Given the description of an element on the screen output the (x, y) to click on. 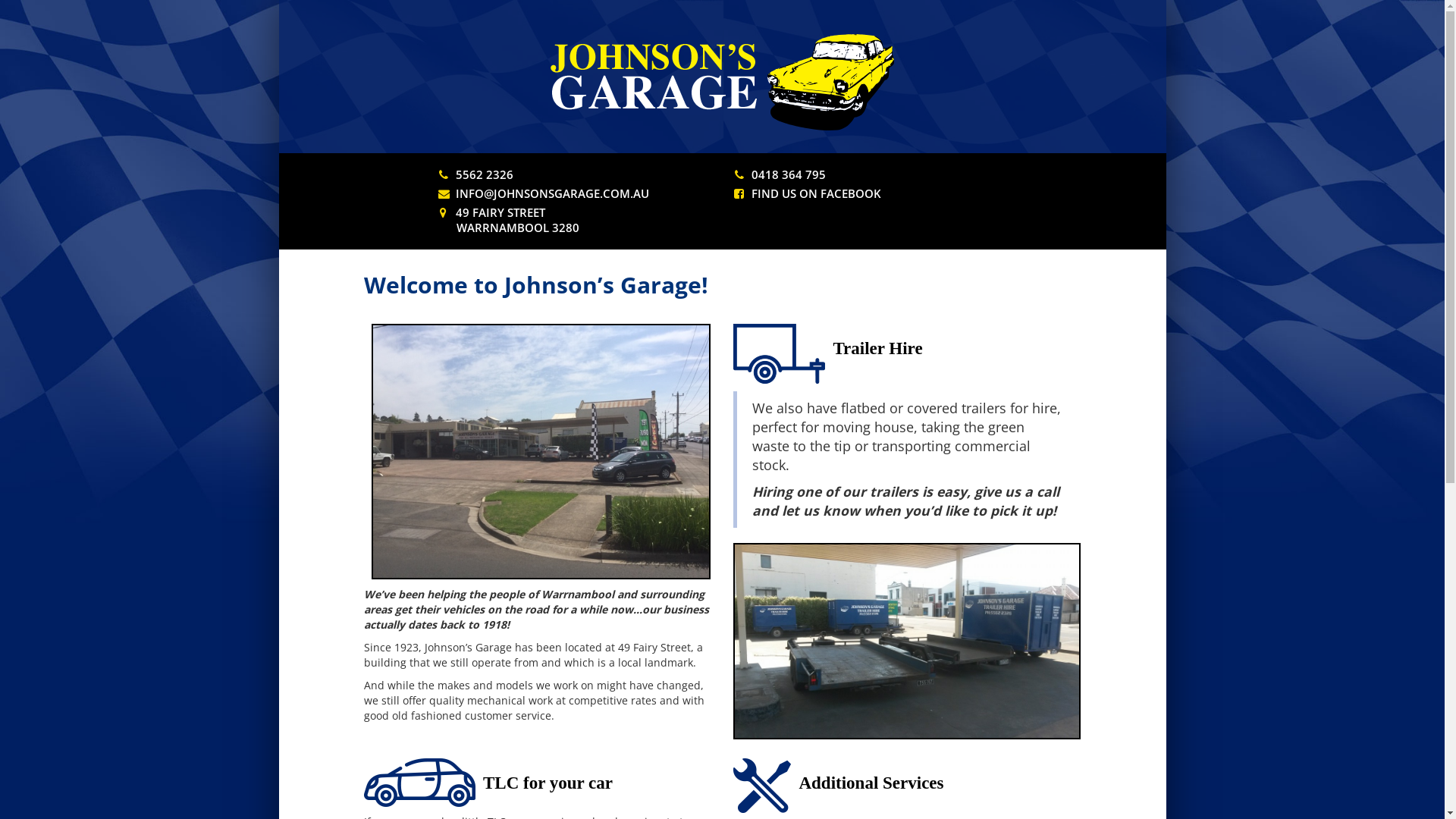
49 FAIRY STREET
WARRNAMBOOL 3280 Element type: text (508, 219)
INFO@JOHNSONSGARAGE.COM.AU Element type: text (552, 192)
5562 2326 Element type: text (484, 174)
FIND US ON FACEBOOK Element type: text (816, 192)
0418 364 795 Element type: text (788, 174)
